Given the description of an element on the screen output the (x, y) to click on. 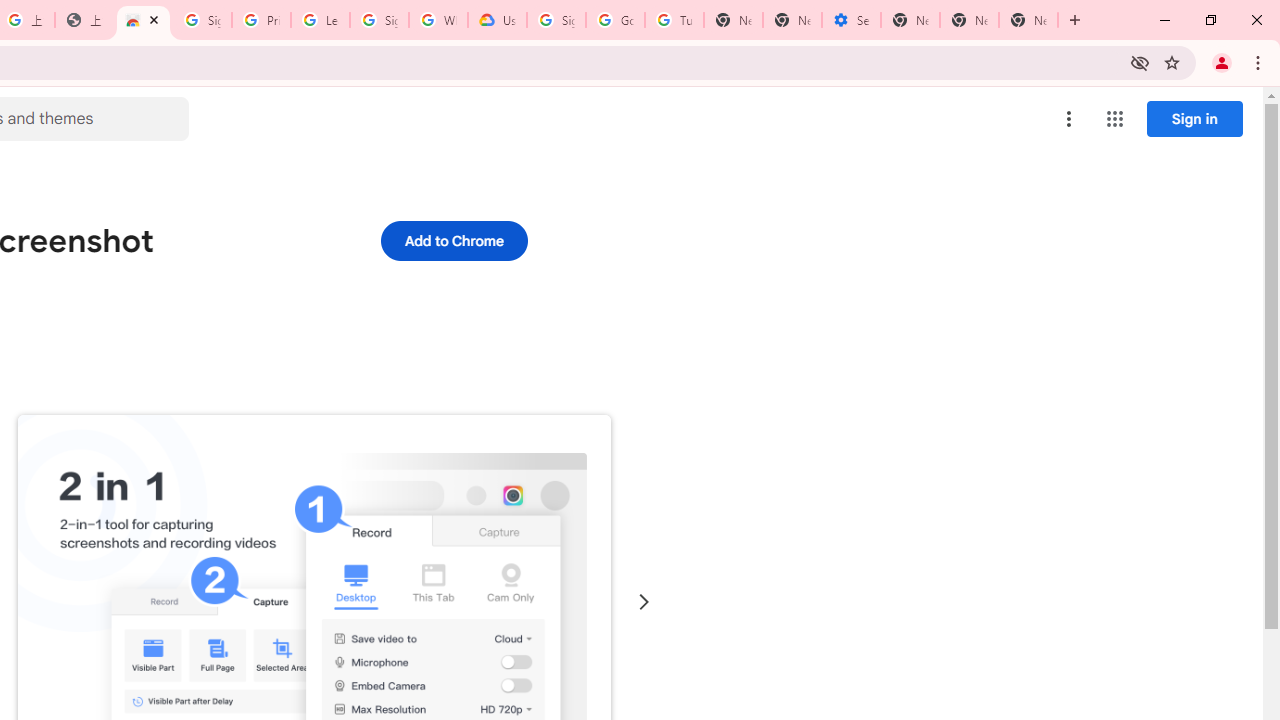
Turn cookies on or off - Computer - Google Account Help (674, 20)
Add to Chrome (453, 240)
More options menu (1069, 118)
New Tab (1028, 20)
Awesome Screen Recorder & Screenshot - Chrome Web Store (142, 20)
New Tab (909, 20)
